Given the description of an element on the screen output the (x, y) to click on. 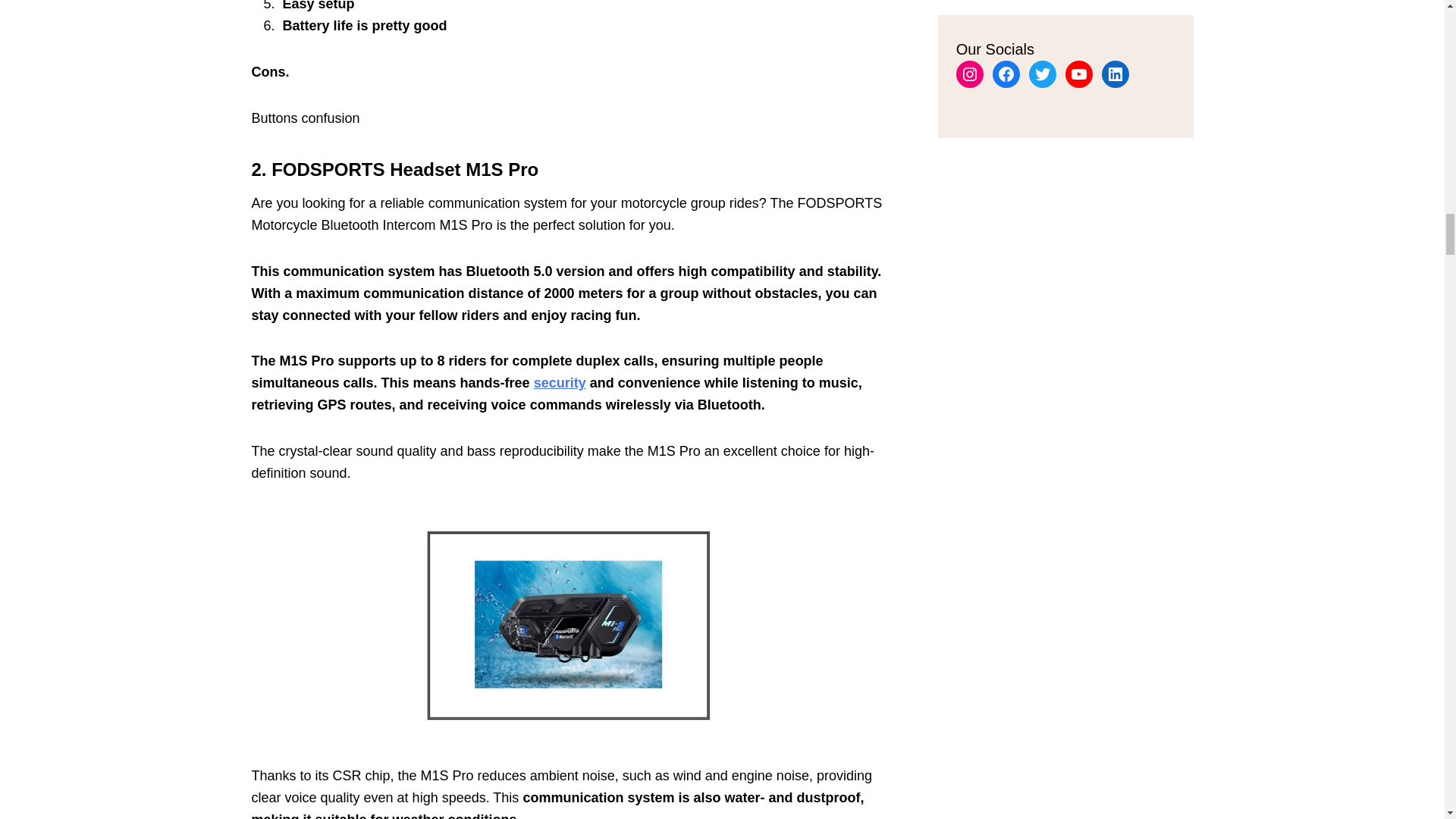
FODSPORTS Headset M1S Pro (570, 624)
security (560, 382)
FODSPORTS Headset M1S Pro (404, 168)
